Given the description of an element on the screen output the (x, y) to click on. 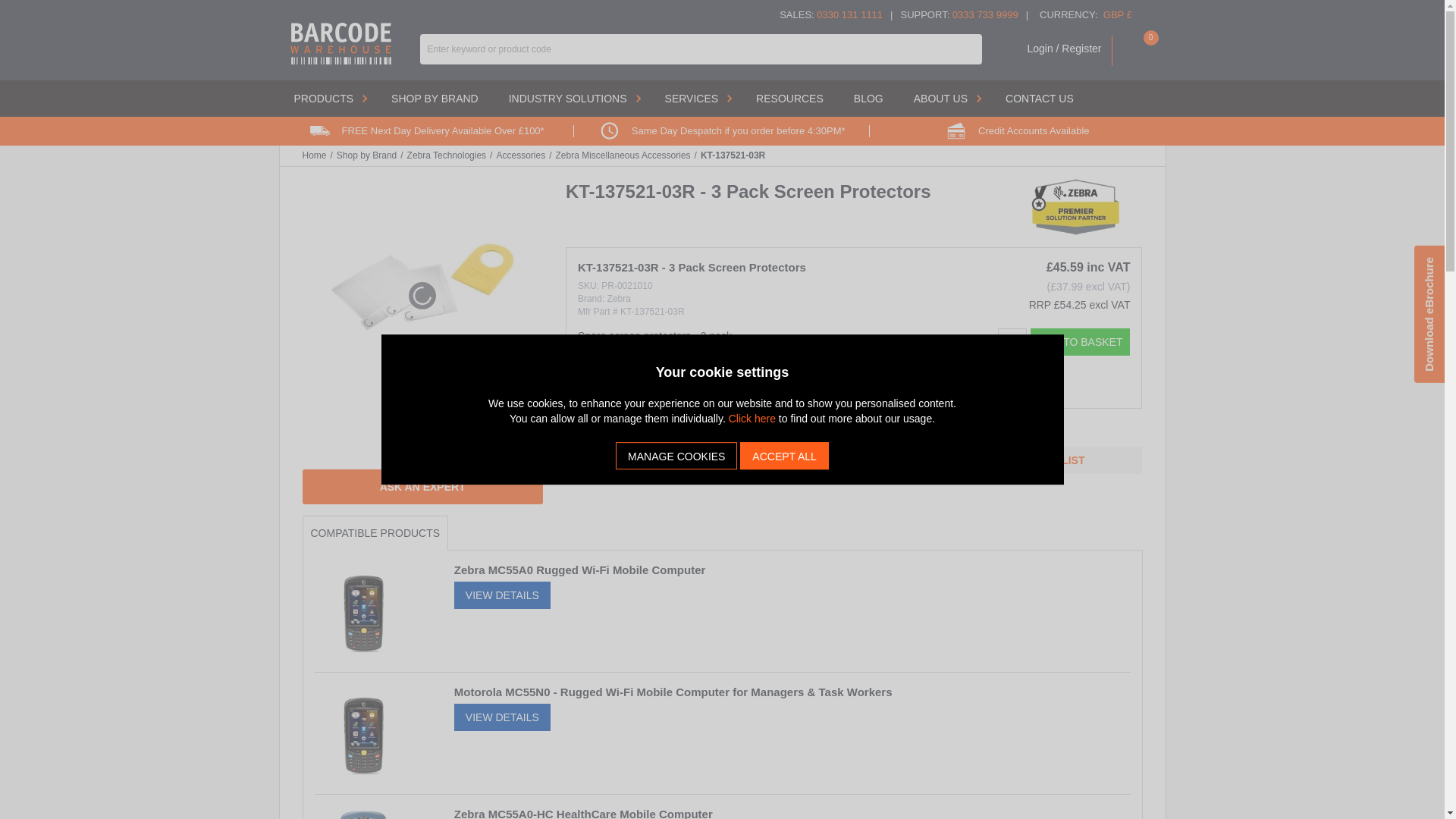
Enter keyword or product code (700, 49)
SALES: 0330 131 1111 (830, 14)
Products (328, 98)
Add To Basket (1080, 341)
The Barcode Warehouse (339, 49)
1 (1011, 341)
Go (970, 49)
SUPPORT: 0333 733 9999 (958, 14)
PRODUCTS (328, 98)
